Given the description of an element on the screen output the (x, y) to click on. 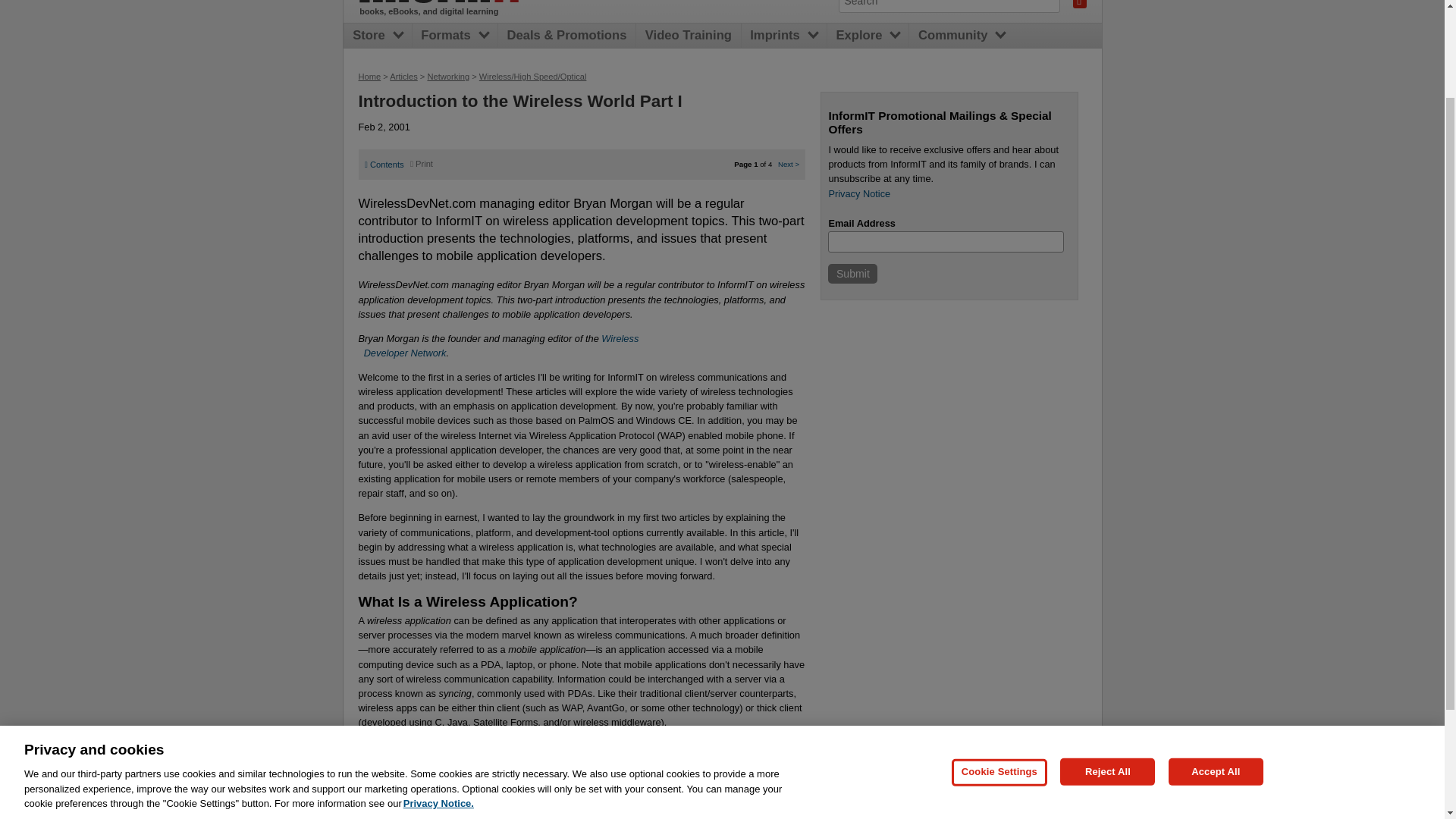
Articles (403, 76)
Print (421, 163)
Submit (499, 345)
Store (852, 273)
Networking (372, 35)
Home (447, 76)
Submit (369, 76)
Home (852, 273)
Privacy Notice (446, 1)
